Given the description of an element on the screen output the (x, y) to click on. 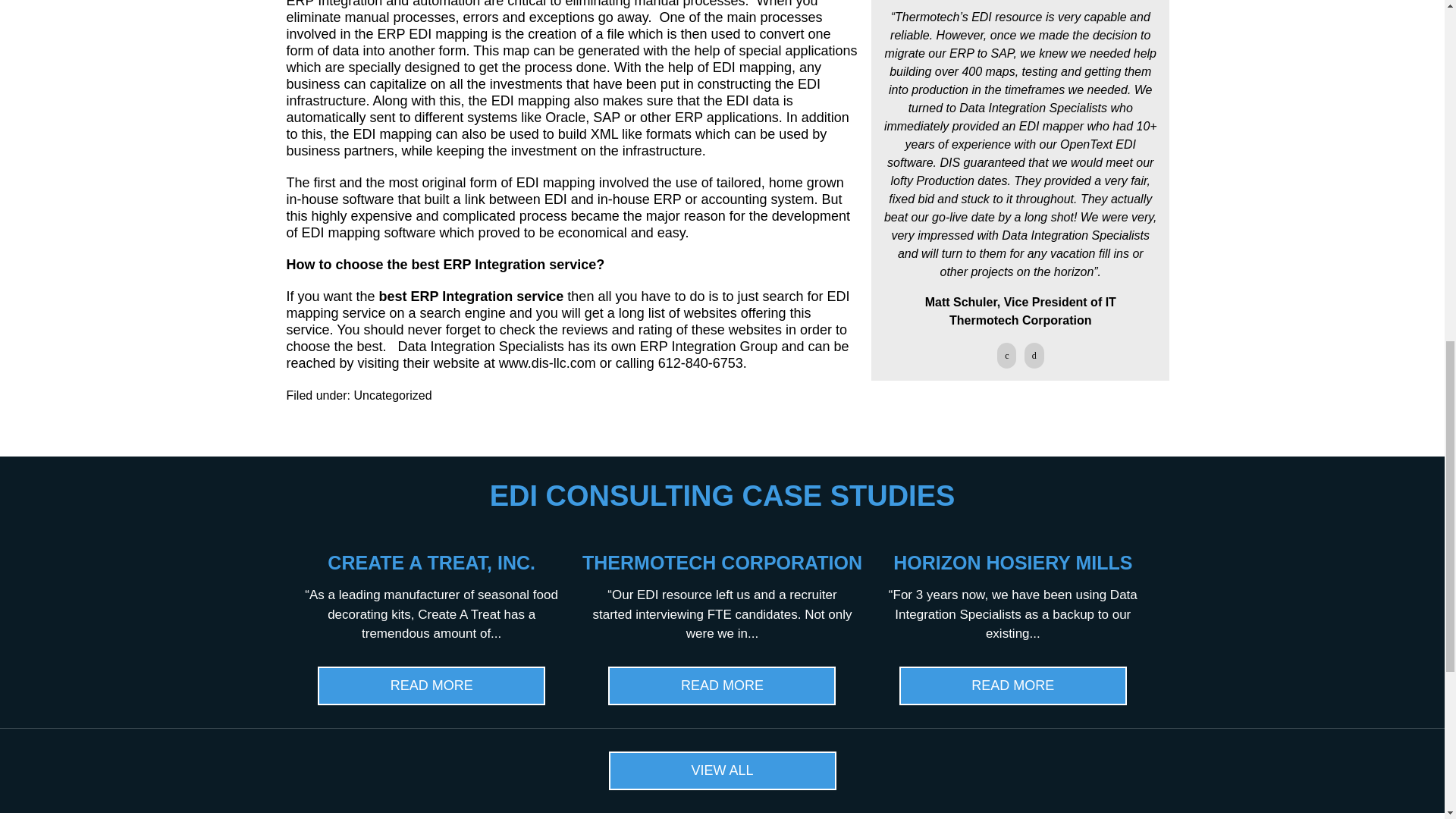
READ MORE (1012, 685)
CREATE A TREAT, INC. (431, 562)
best E (399, 296)
READ MORE (721, 685)
THERMOTECH CORPORATION (721, 562)
READ MORE (430, 685)
HORIZON HOSIERY MILLS (1012, 562)
VIEW ALL (721, 770)
Uncategorized (391, 395)
